Given the description of an element on the screen output the (x, y) to click on. 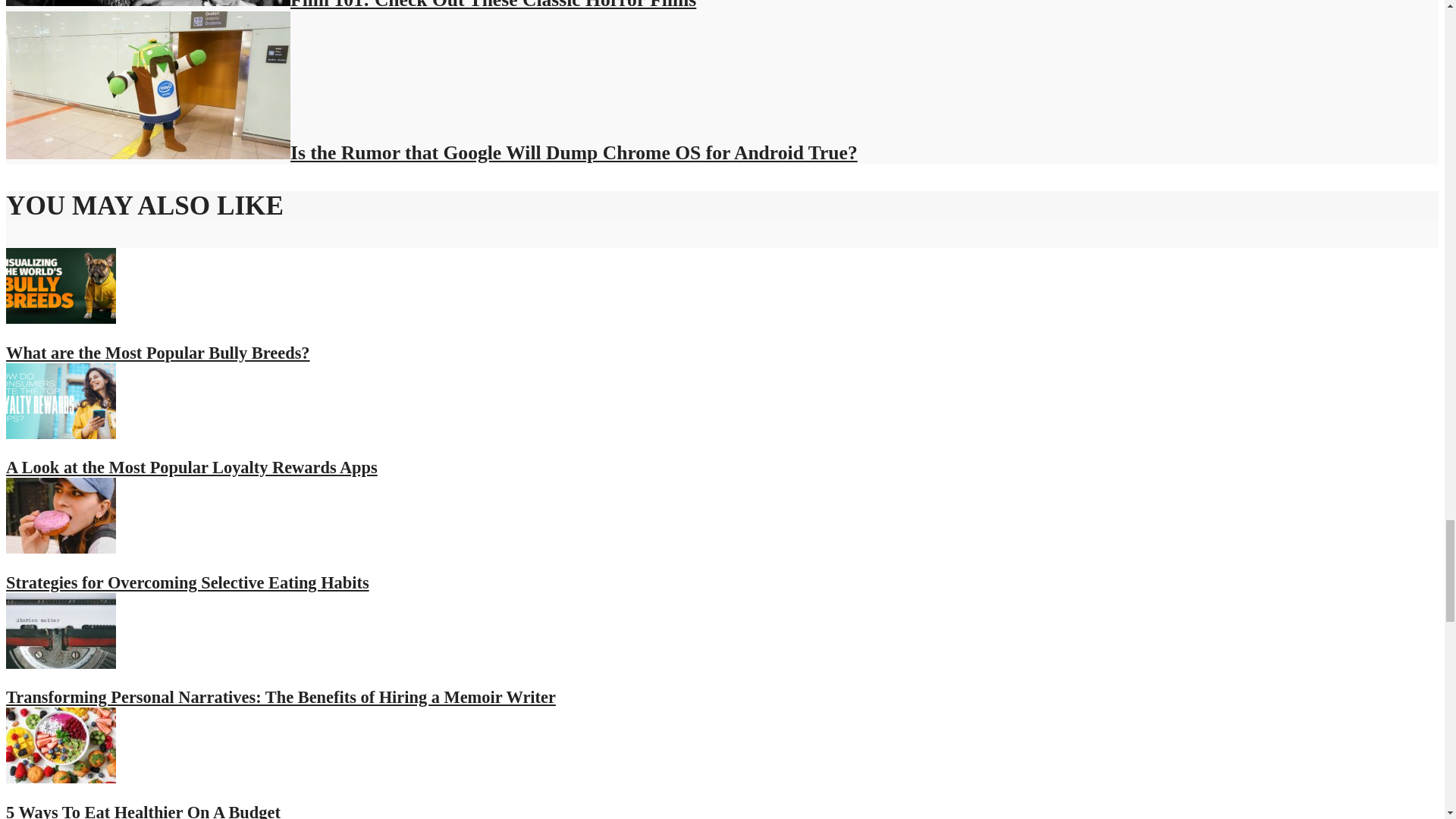
A Look at the Most Popular Loyalty Rewards Apps (191, 466)
Strategies for Overcoming Selective Eating Habits (60, 546)
Strategies for Overcoming Selective Eating Habits (187, 582)
Strategies for Overcoming Selective Eating Habits (187, 582)
5 Ways To Eat Healthier On A Budget (143, 811)
What are the Most Popular Bully Breeds? (157, 352)
A Look at the Most Popular Loyalty Rewards Apps (191, 466)
5 Ways To Eat Healthier On A Budget (60, 776)
What are the Most Popular Bully Breeds? (157, 352)
Film 101: Check Out These Classic Horror Films (350, 5)
5 Ways To Eat Healthier On A Budget (143, 811)
A Look at the Most Popular Loyalty Rewards Apps (60, 432)
